Given the description of an element on the screen output the (x, y) to click on. 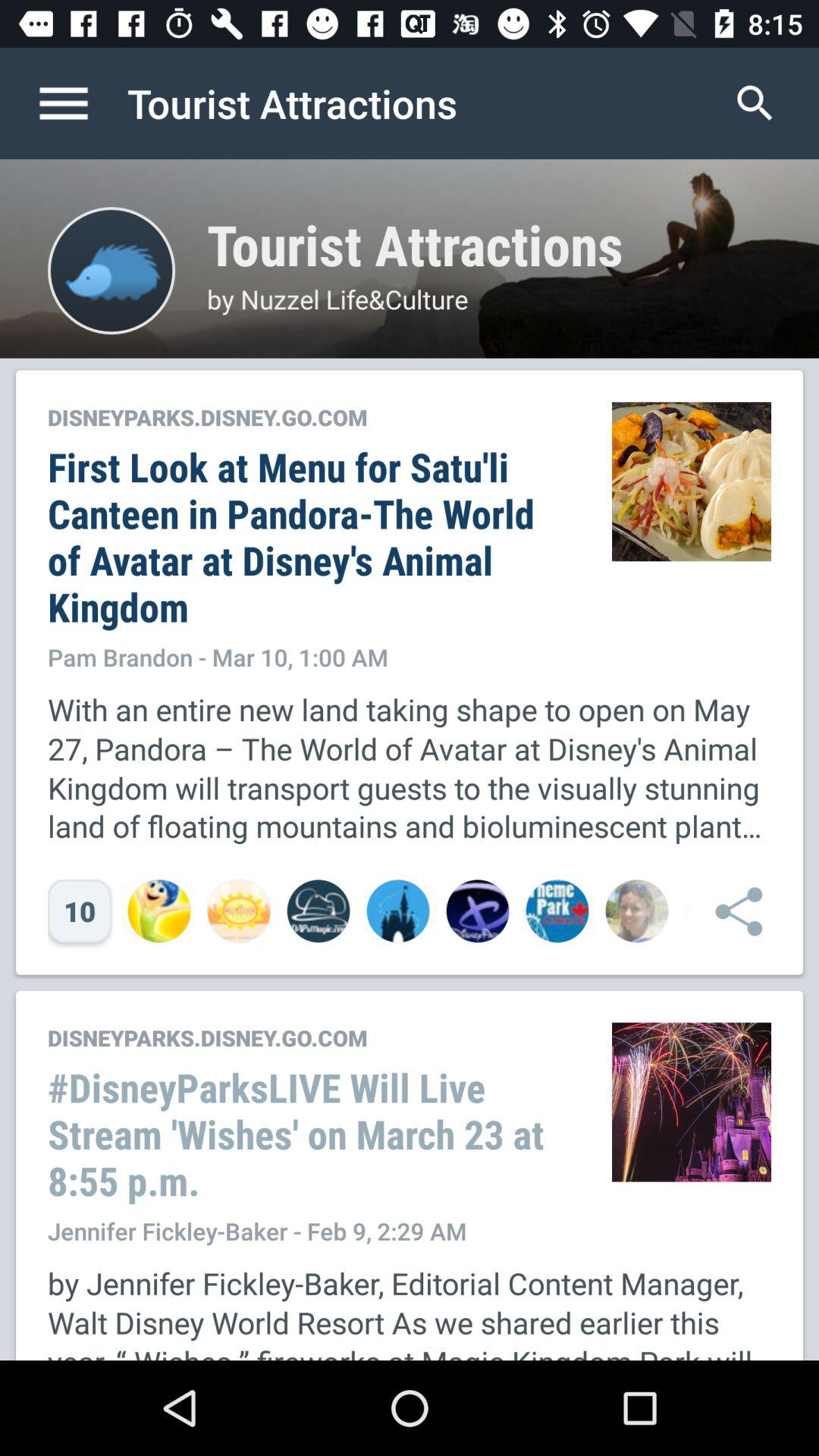
share article (731, 910)
